Given the description of an element on the screen output the (x, y) to click on. 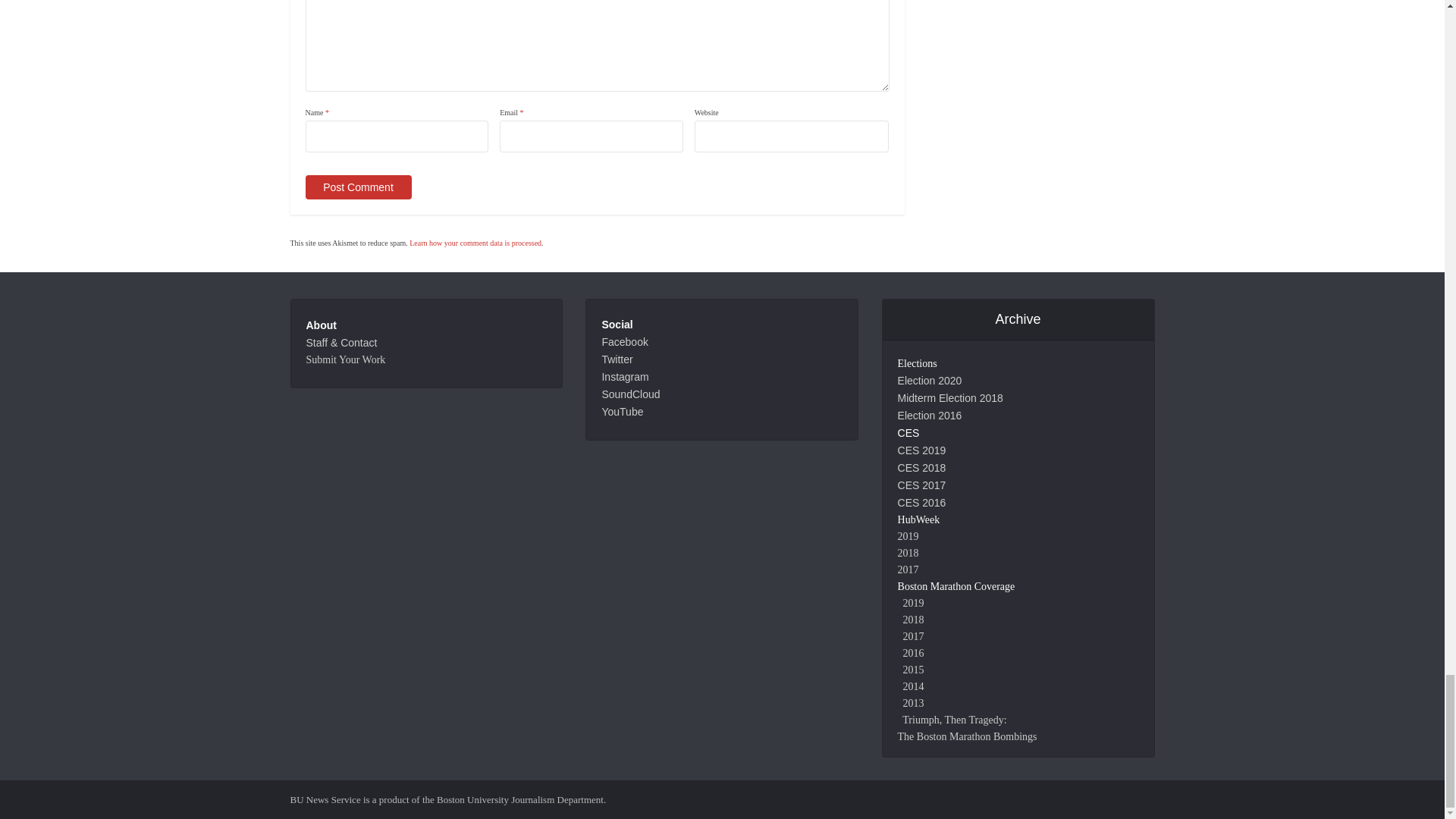
Post Comment (357, 187)
